Given the description of an element on the screen output the (x, y) to click on. 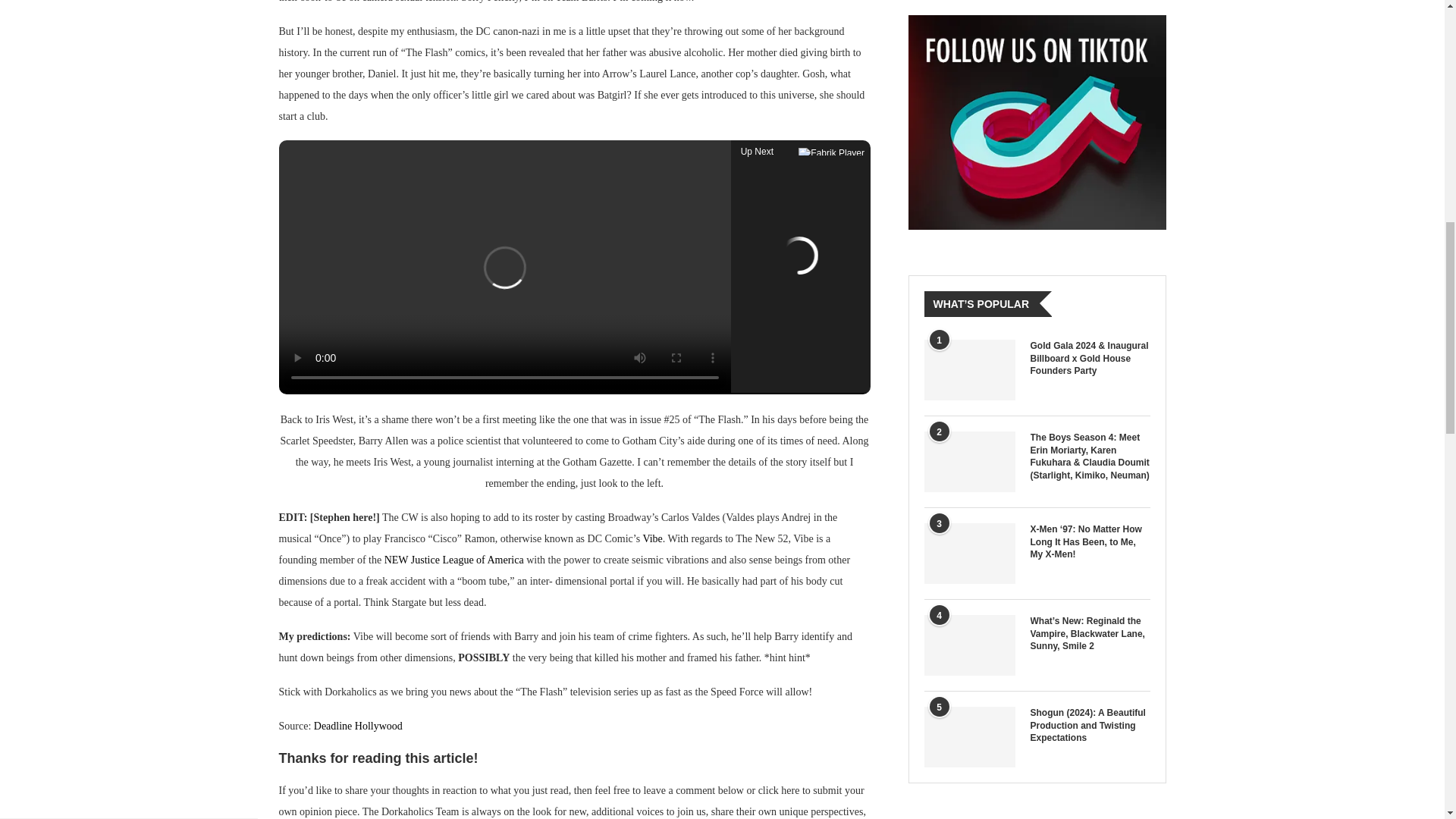
here (789, 790)
Deadline Hollywood (358, 726)
NEW Justice League of America (454, 559)
Vibe (652, 538)
